Given the description of an element on the screen output the (x, y) to click on. 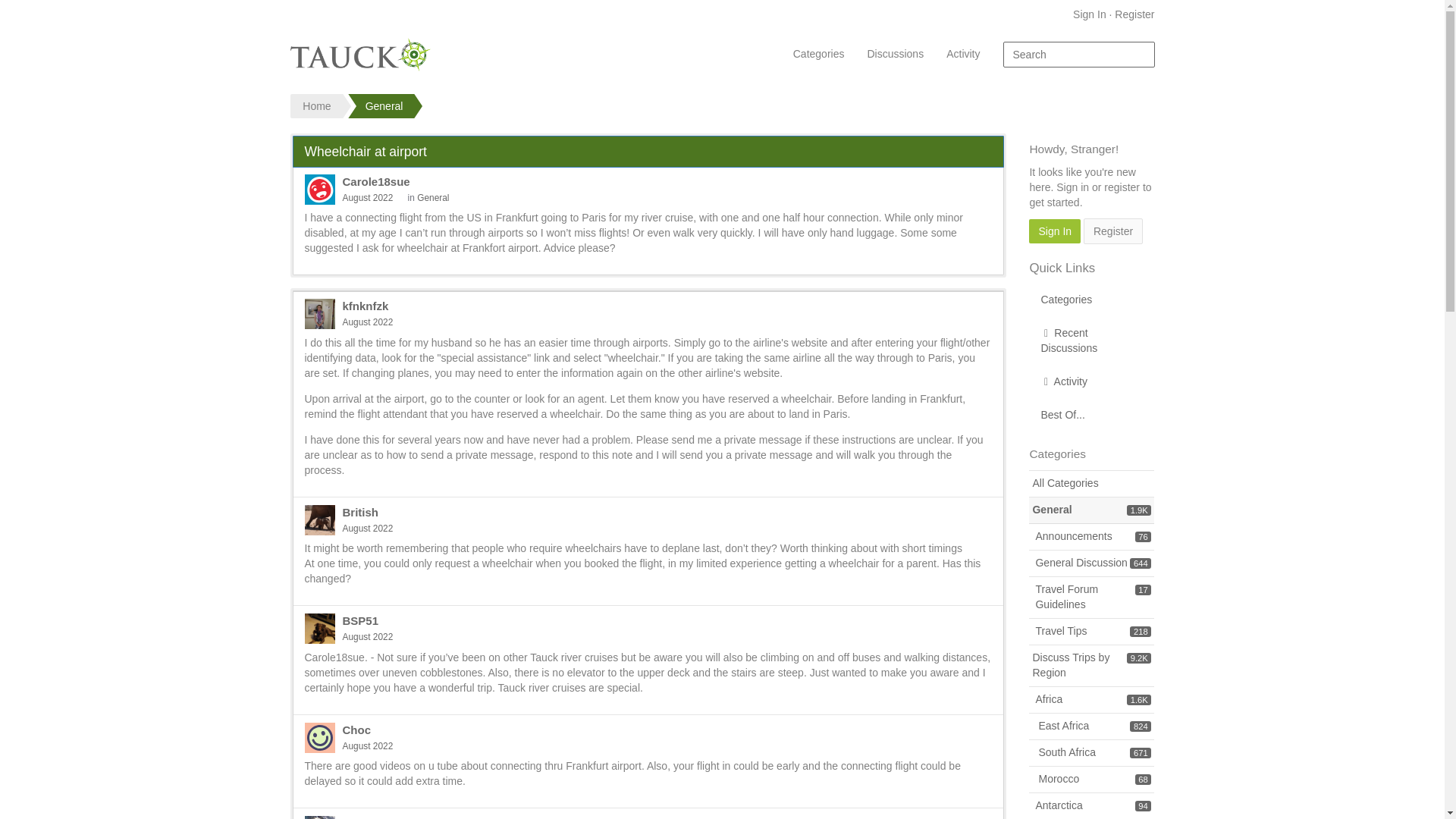
August 7, 2022 4:11PM (367, 321)
kfnknfzk (319, 313)
Discussions (895, 54)
17 discussions (1142, 589)
Choc (356, 729)
Home (314, 105)
Activity (1091, 381)
Register (1112, 231)
General (384, 105)
Categories (1091, 300)
